Given the description of an element on the screen output the (x, y) to click on. 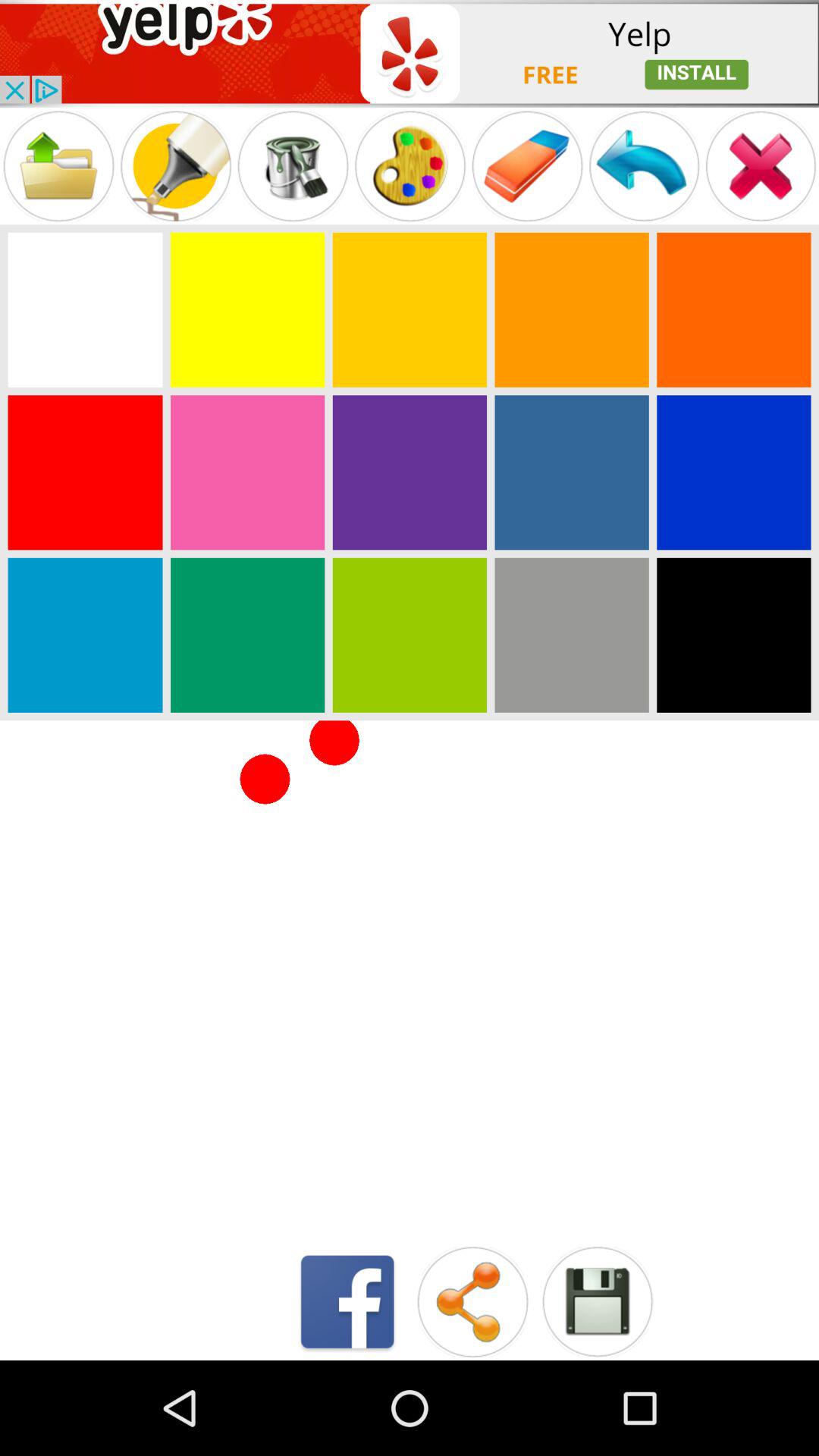
choose blue color button (84, 634)
